Given the description of an element on the screen output the (x, y) to click on. 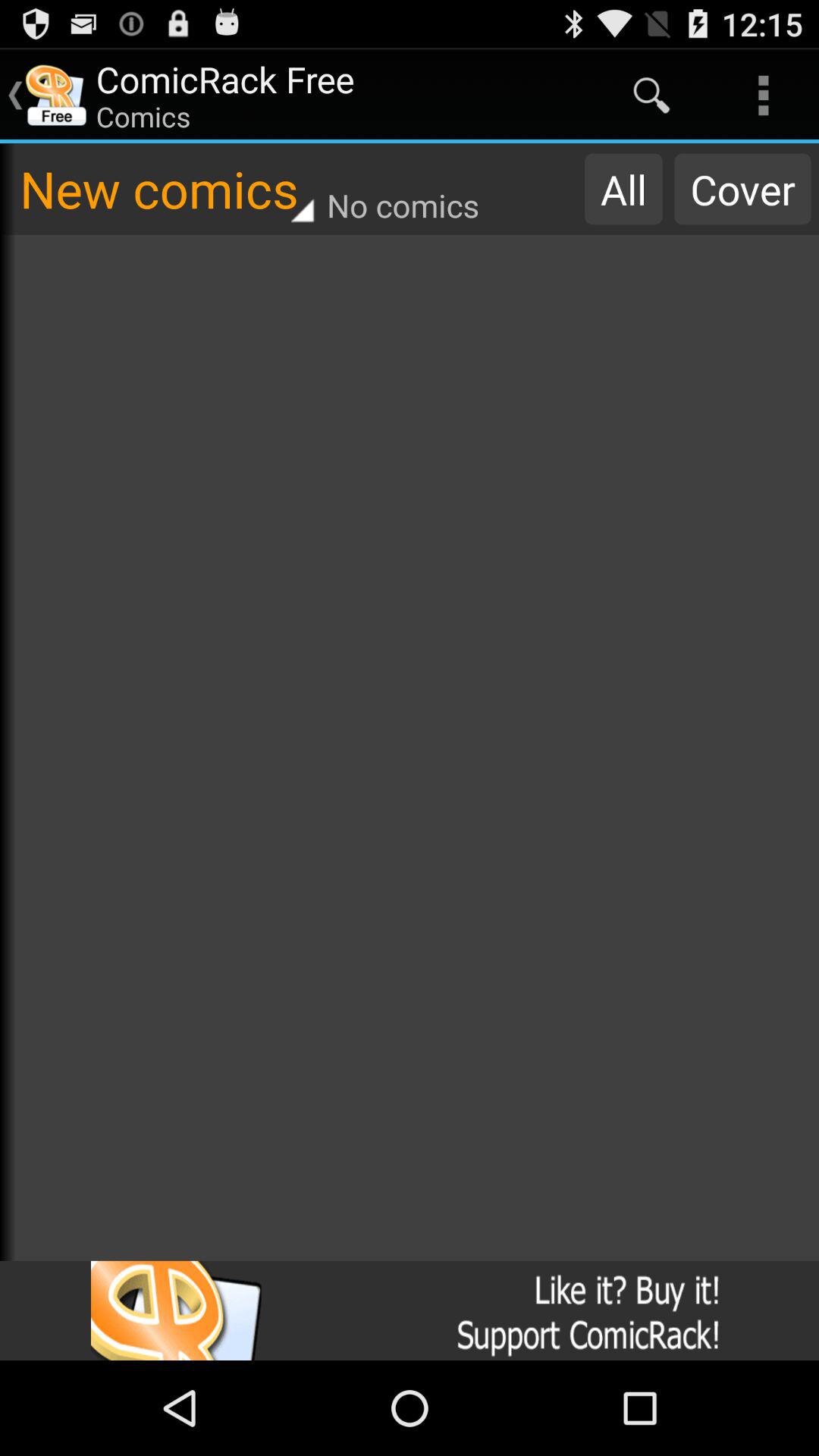
open item to the right of all item (742, 188)
